Given the description of an element on the screen output the (x, y) to click on. 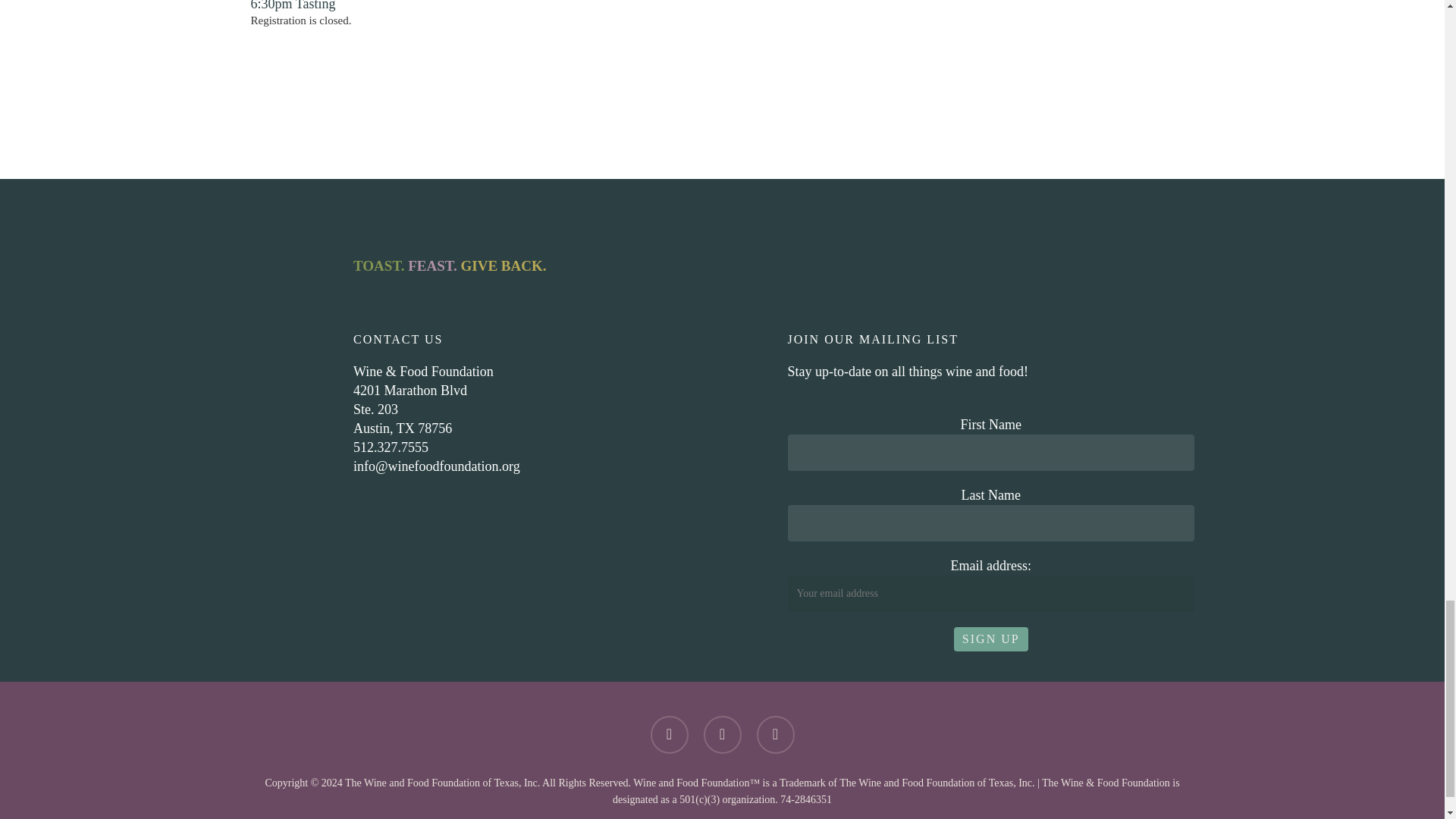
Sign up (990, 639)
Sign up (990, 639)
